Given the description of an element on the screen output the (x, y) to click on. 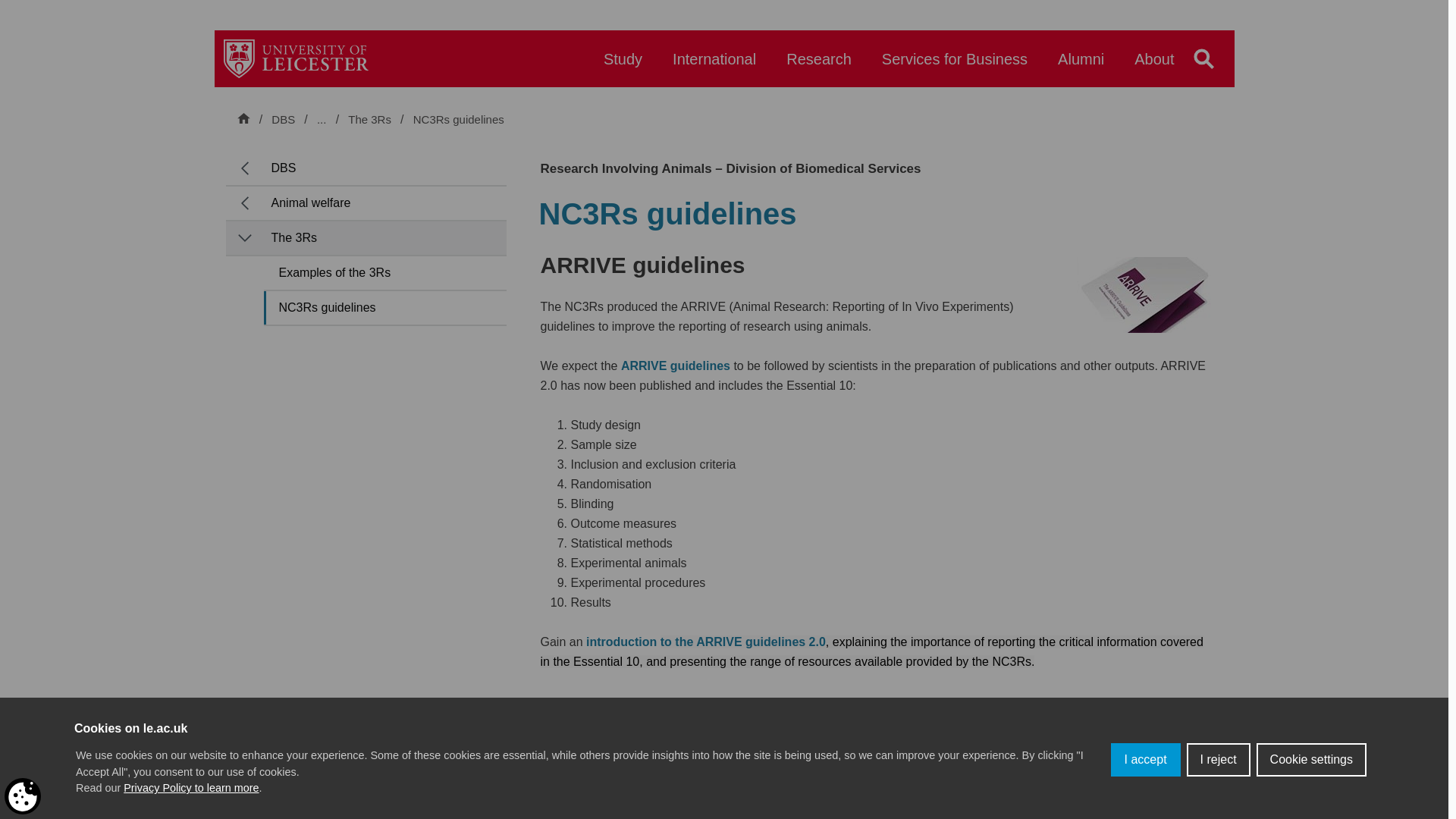
The 3Rs (370, 119)
DBS (282, 119)
NC3Rs guidelines (458, 119)
Study (623, 65)
Cookie settings (1311, 779)
Animal welfare (384, 119)
I accept (1145, 802)
I reject (1218, 789)
Return to homepage (295, 58)
